Given the description of an element on the screen output the (x, y) to click on. 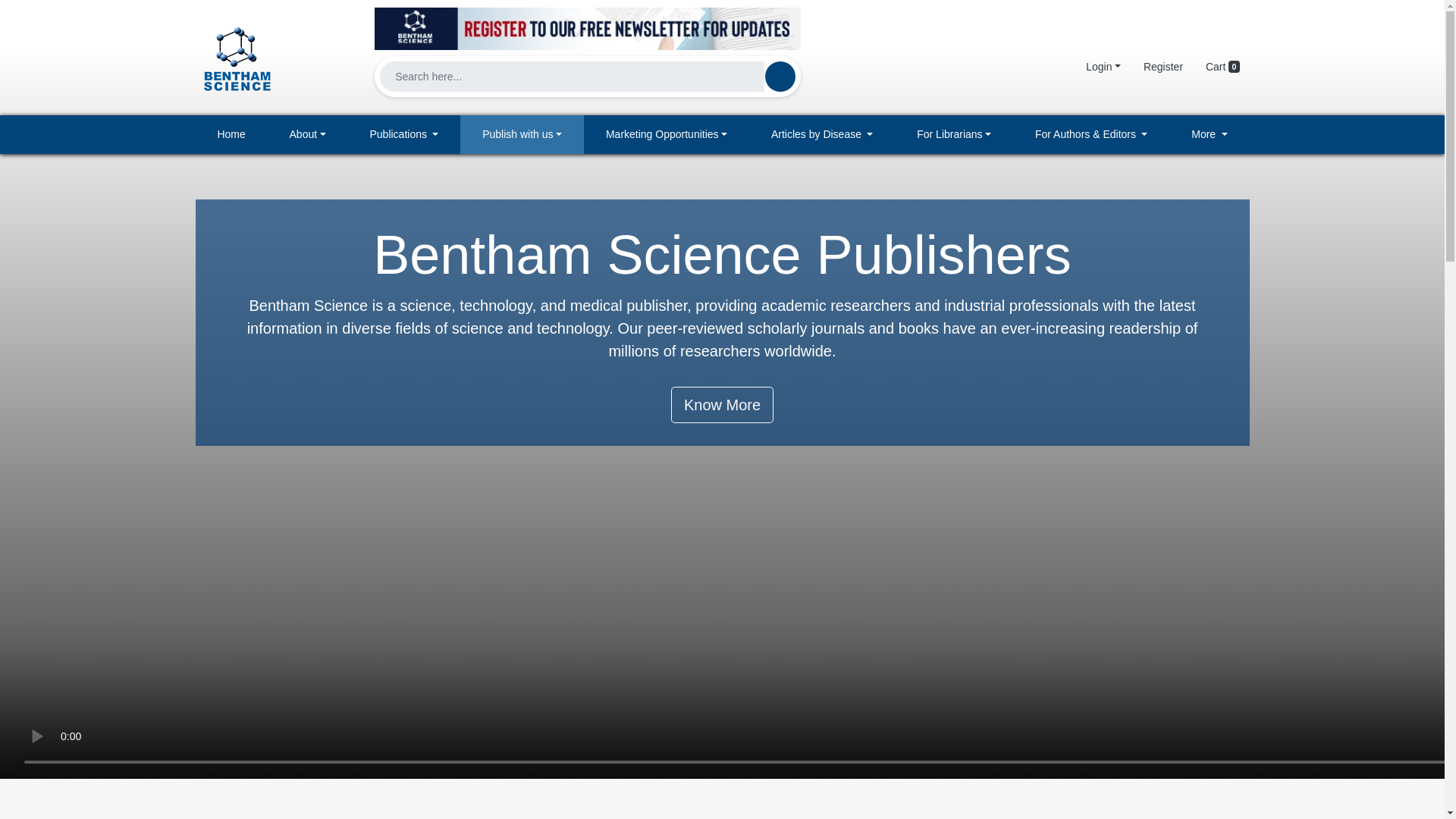
Cart 0 (1222, 67)
Home (231, 134)
About (307, 134)
Publications (404, 134)
newsletter banner (587, 24)
newsletter banner (587, 28)
Login (1103, 67)
Register (1163, 67)
Search anything here (779, 76)
Search Button (779, 76)
